Given the description of an element on the screen output the (x, y) to click on. 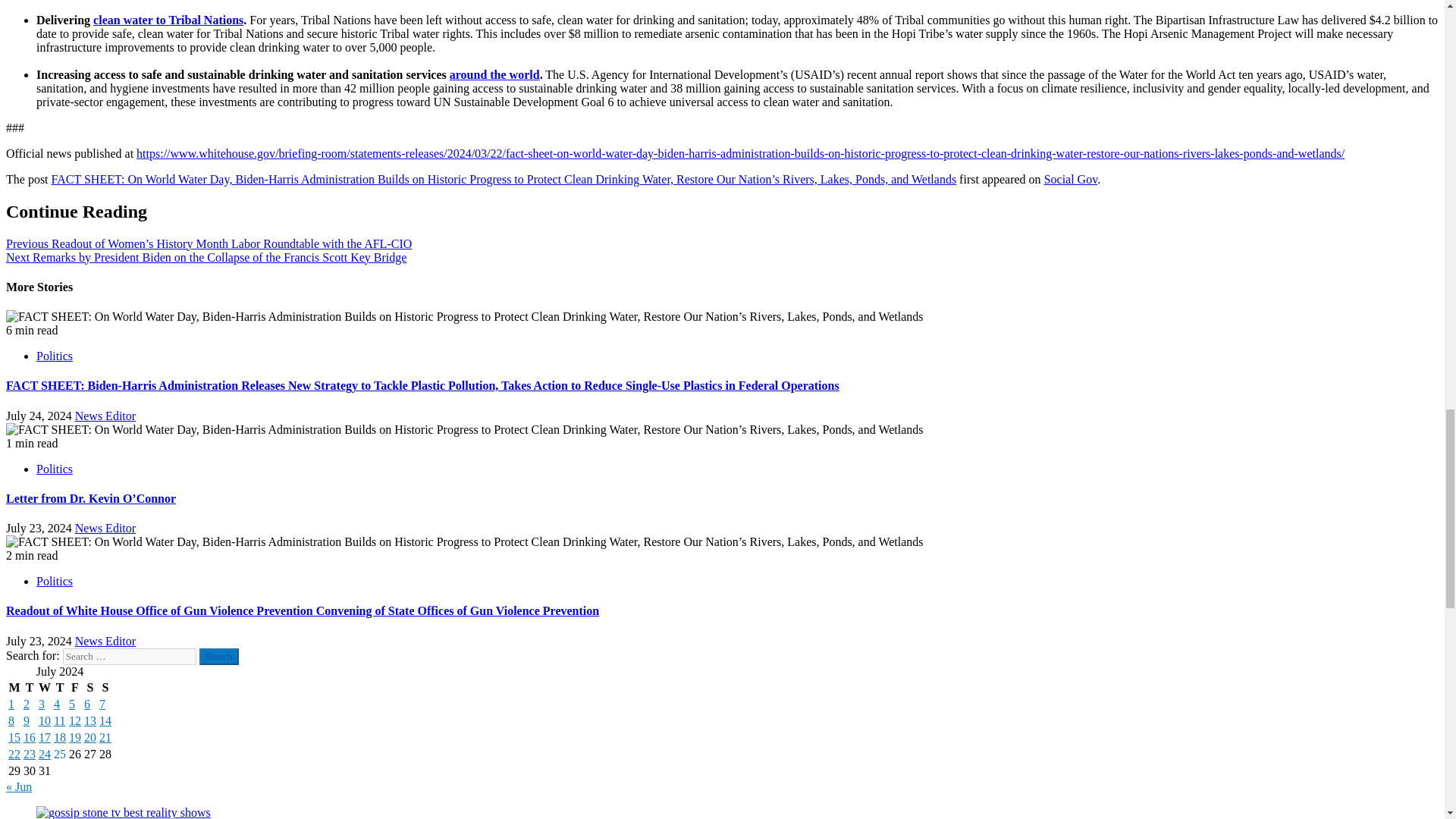
Search (218, 656)
Tuesday (29, 687)
Wednesday (43, 687)
Monday (14, 687)
Friday (74, 687)
Saturday (89, 687)
Thursday (59, 687)
Search (218, 656)
Sunday (105, 687)
